Given the description of an element on the screen output the (x, y) to click on. 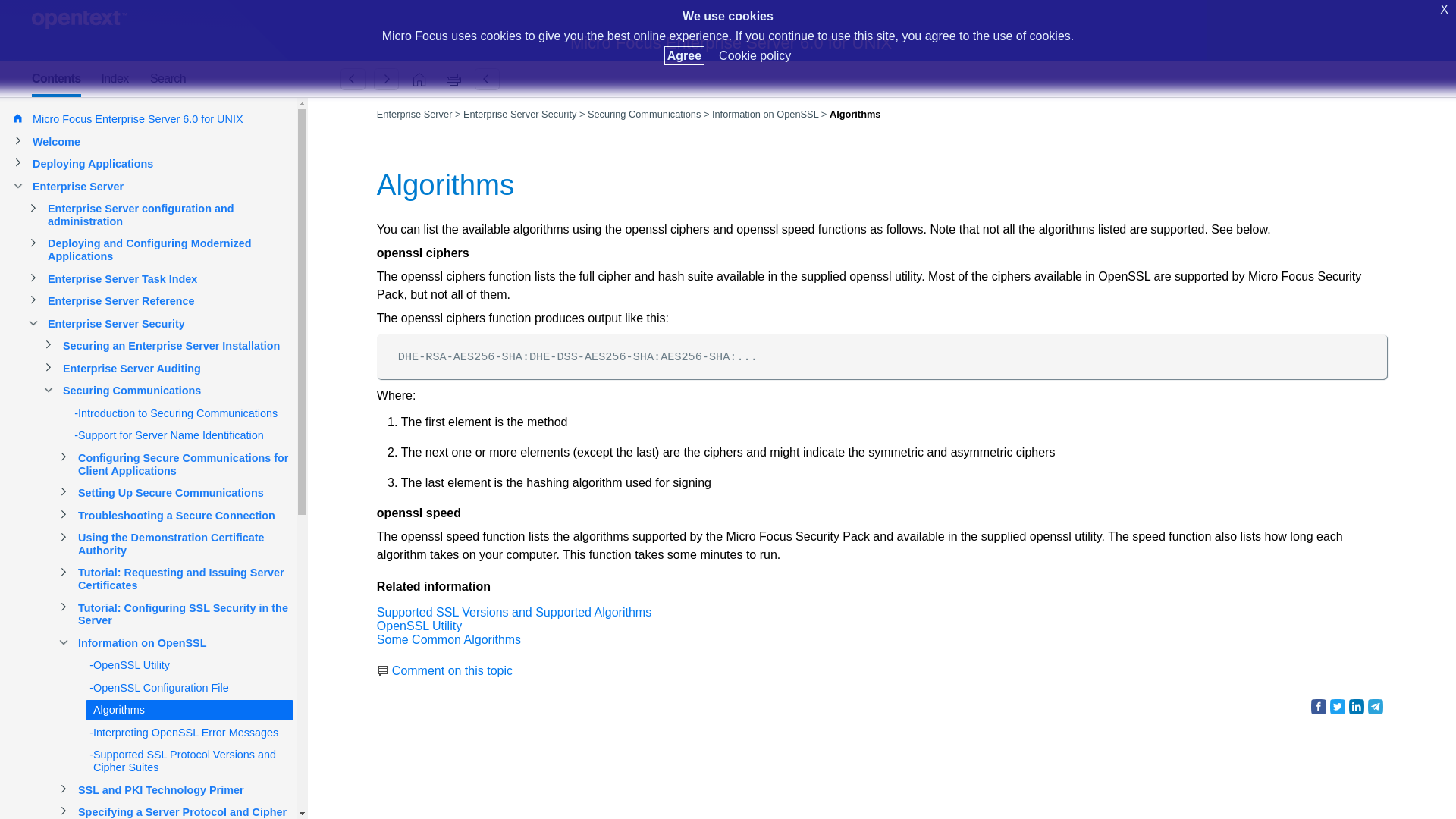
Cookie policy (754, 55)
Interpreting OpenSSL Error Messages (386, 78)
Agree (684, 55)
OpenSSL Configuration File (352, 78)
